Given the description of an element on the screen output the (x, y) to click on. 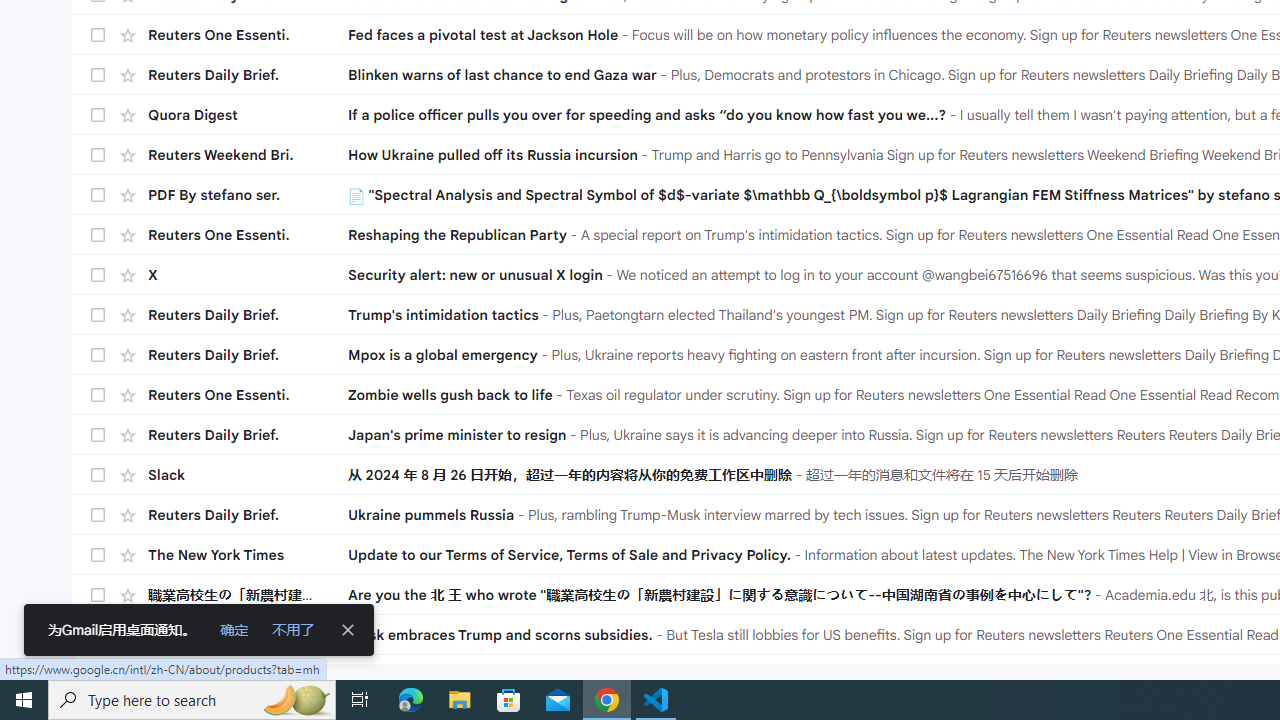
Slack (248, 475)
Quora Digest (248, 115)
